Given the description of an element on the screen output the (x, y) to click on. 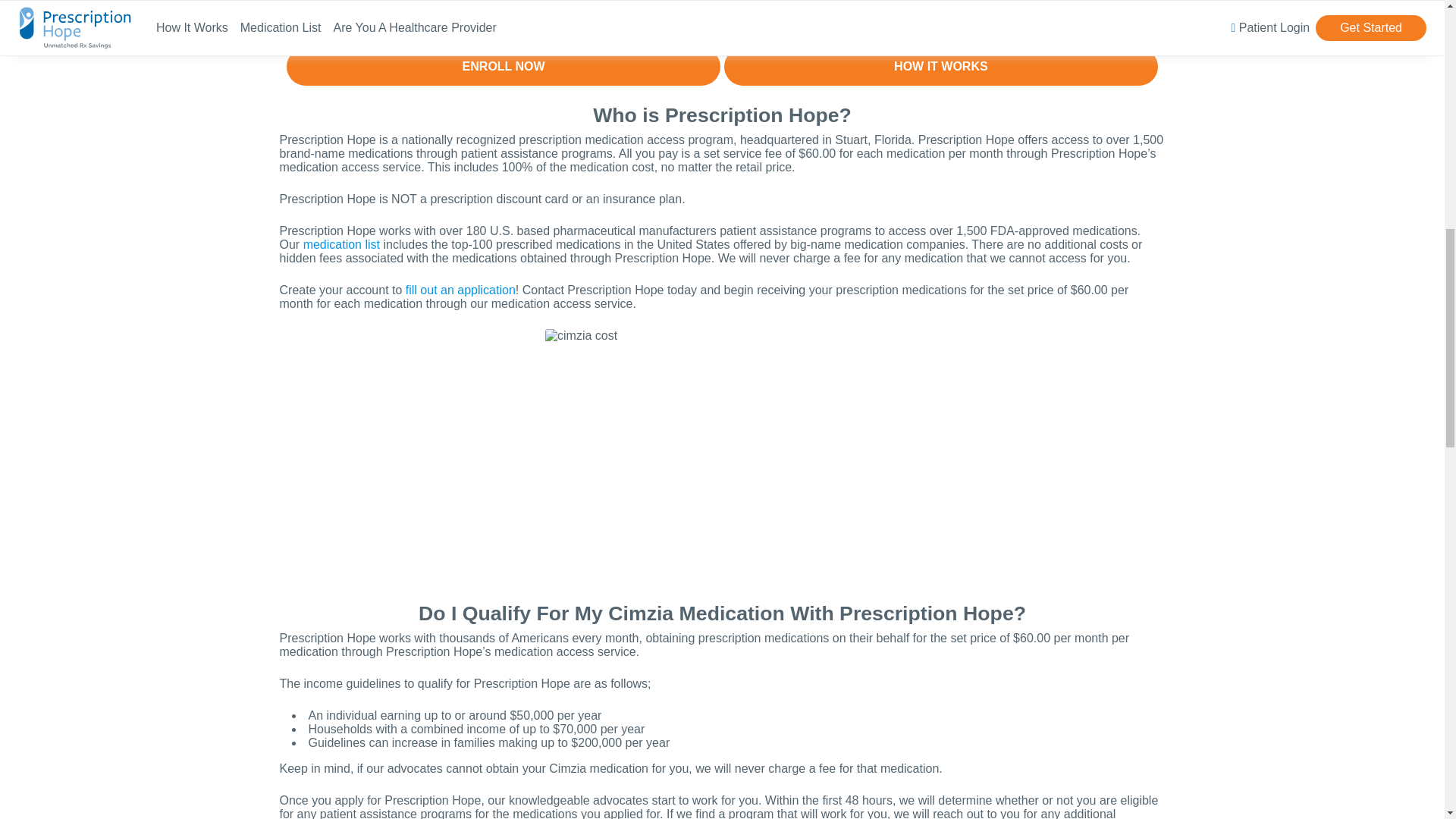
HOW IT WORKS (940, 66)
ENROLL NOW (503, 66)
medication list (341, 244)
ENROLL NOW (503, 66)
fill out an application (460, 289)
How It Works (940, 66)
